Given the description of an element on the screen output the (x, y) to click on. 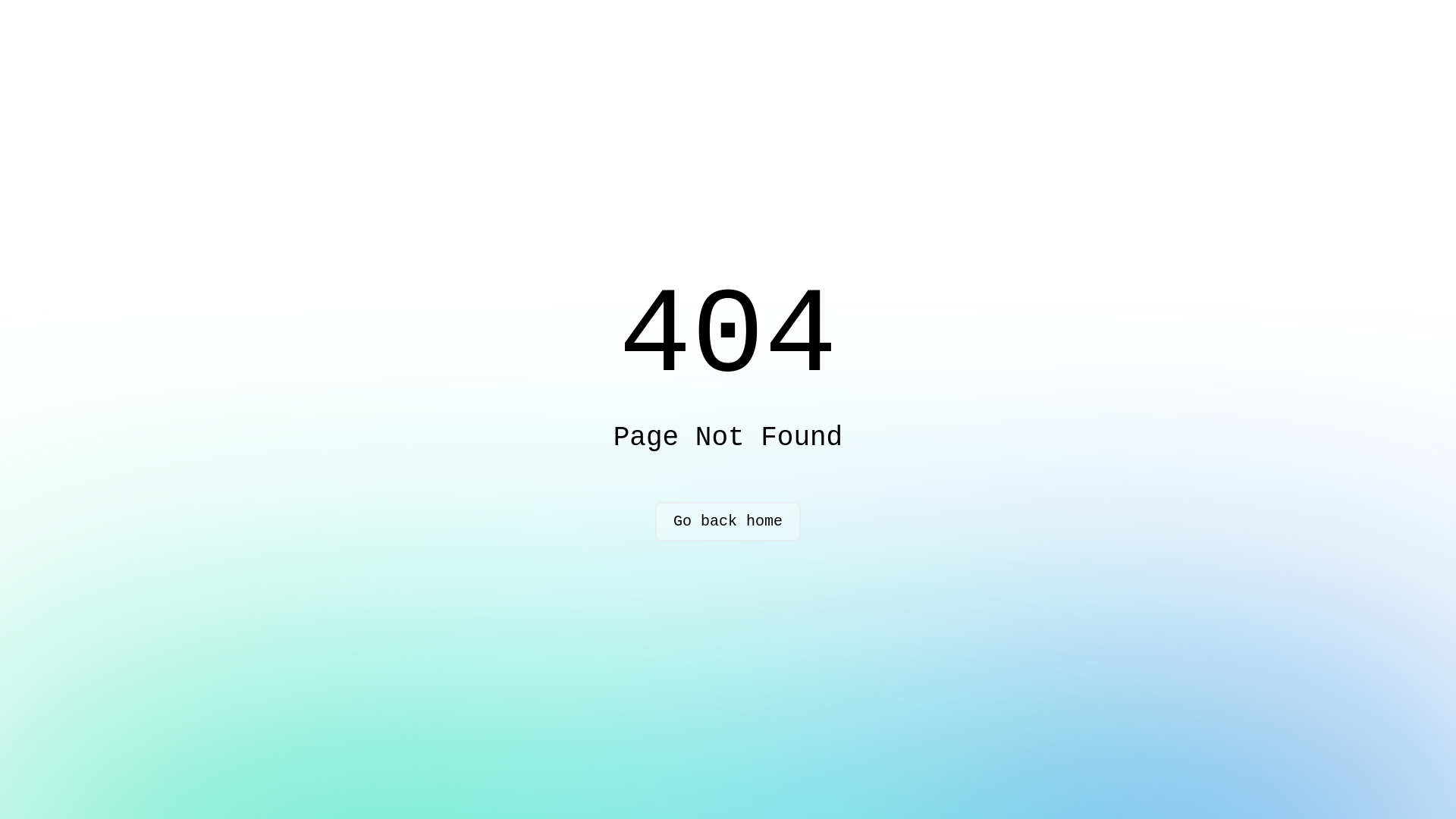
Go back home Element type: text (727, 521)
